Given the description of an element on the screen output the (x, y) to click on. 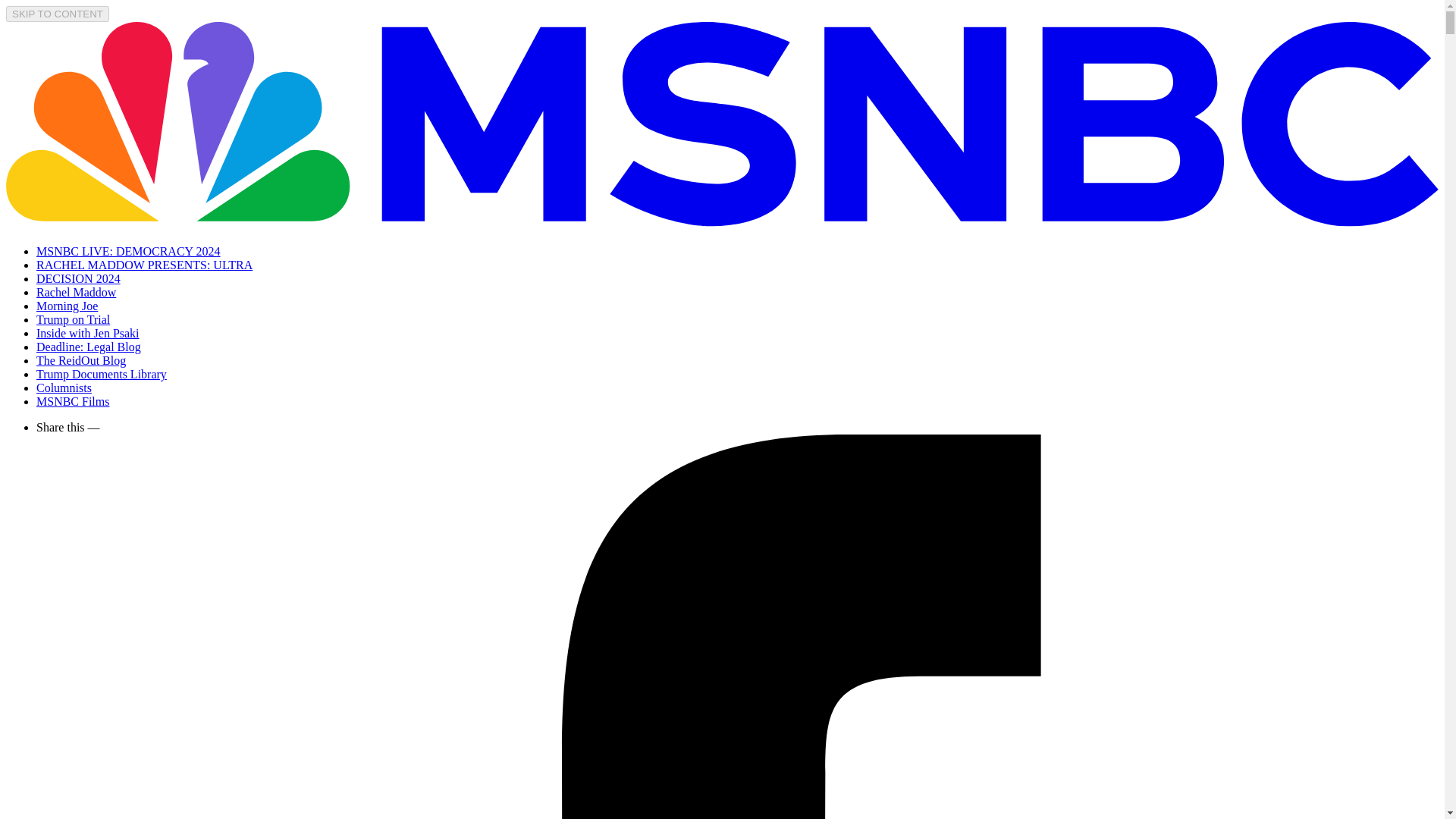
Trump on Trial (73, 318)
RACHEL MADDOW PRESENTS: ULTRA (143, 264)
Rachel Maddow (76, 291)
Deadline: Legal Blog (88, 346)
MSNBC Films (72, 400)
Inside with Jen Psaki (87, 332)
DECISION 2024 (78, 278)
The ReidOut Blog (80, 359)
Columnists (63, 387)
SKIP TO CONTENT (57, 13)
MSNBC LIVE: DEMOCRACY 2024 (128, 250)
Trump Documents Library (101, 373)
Morning Joe (66, 305)
